Given the description of an element on the screen output the (x, y) to click on. 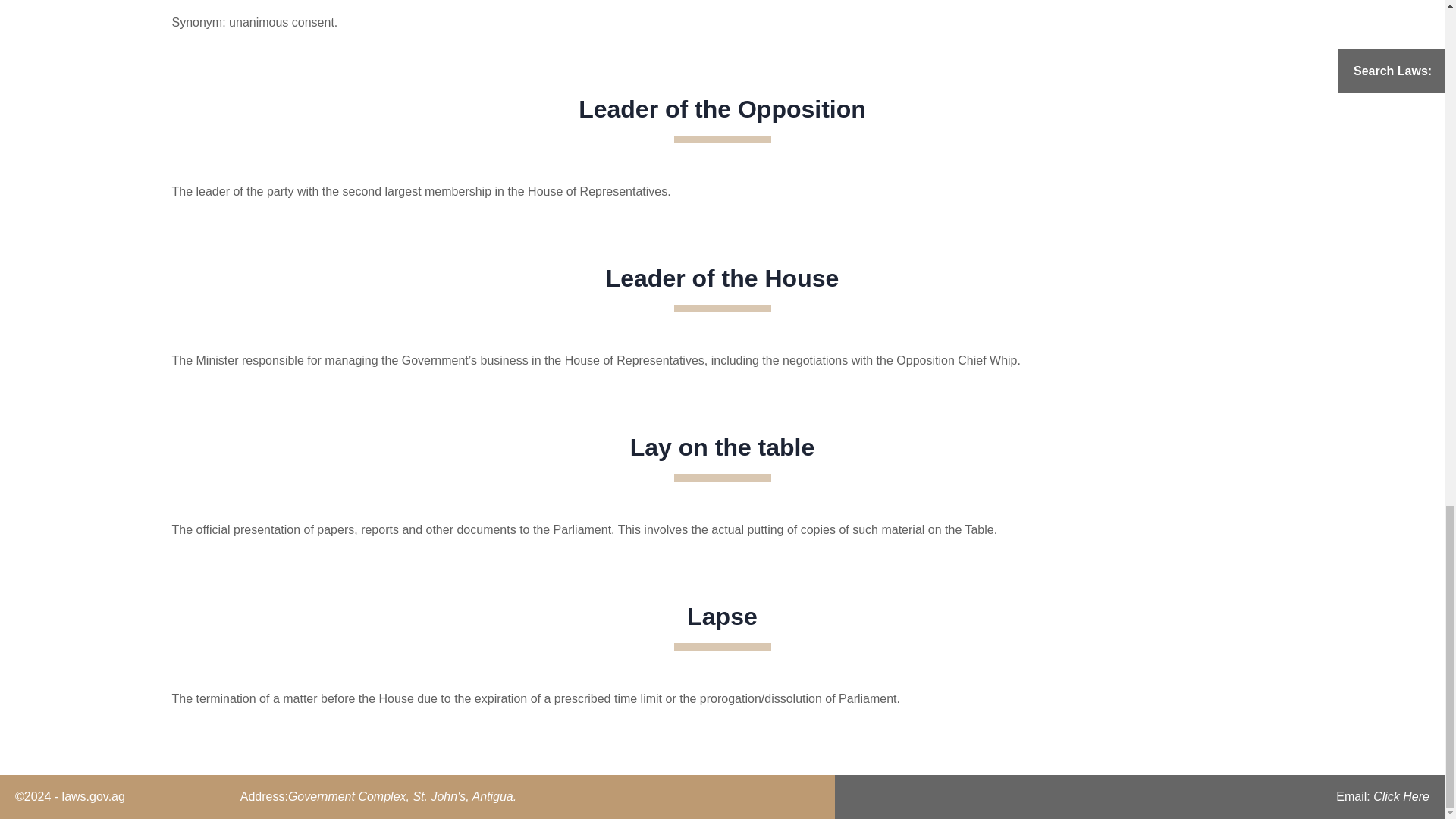
Click Here (1401, 796)
